Given the description of an element on the screen output the (x, y) to click on. 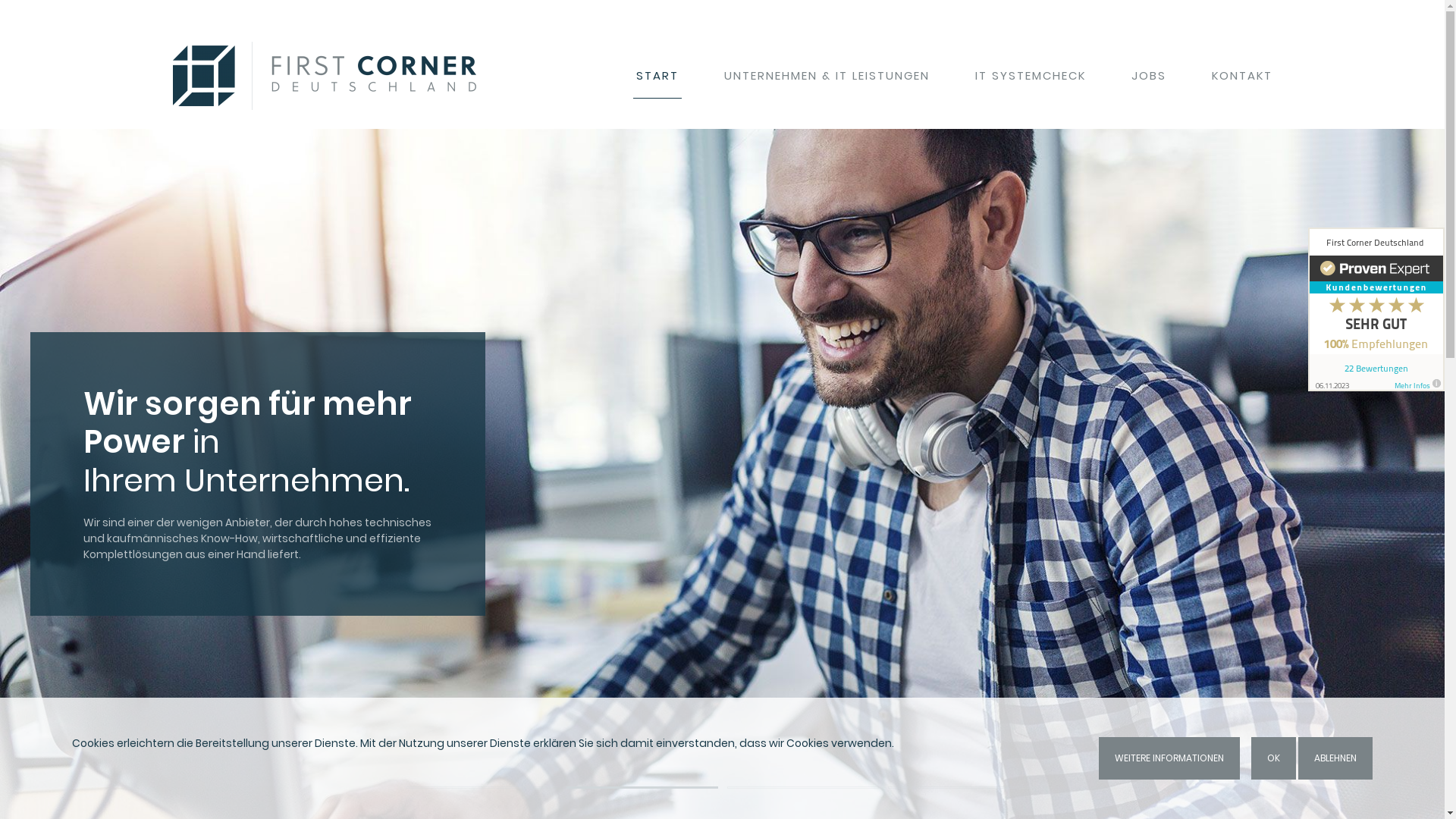
WEITERE INFORMATIONEN Element type: text (1168, 758)
Auf Erfolgskurs
mit First Corner. Element type: text (802, 787)
OK Element type: text (1273, 758)
KONTAKT Element type: text (1242, 75)
UNTERNEHMEN & IT LEISTUNGEN Element type: text (825, 75)
IT SYSTEMCHECK Element type: text (1030, 75)
START Element type: text (656, 75)
ABLEHNEN Element type: text (1335, 758)
JOBS Element type: text (1148, 75)
Sind Sie sicher,
dass Ihre IT sicher ist? Element type: text (480, 787)
